Given the description of an element on the screen output the (x, y) to click on. 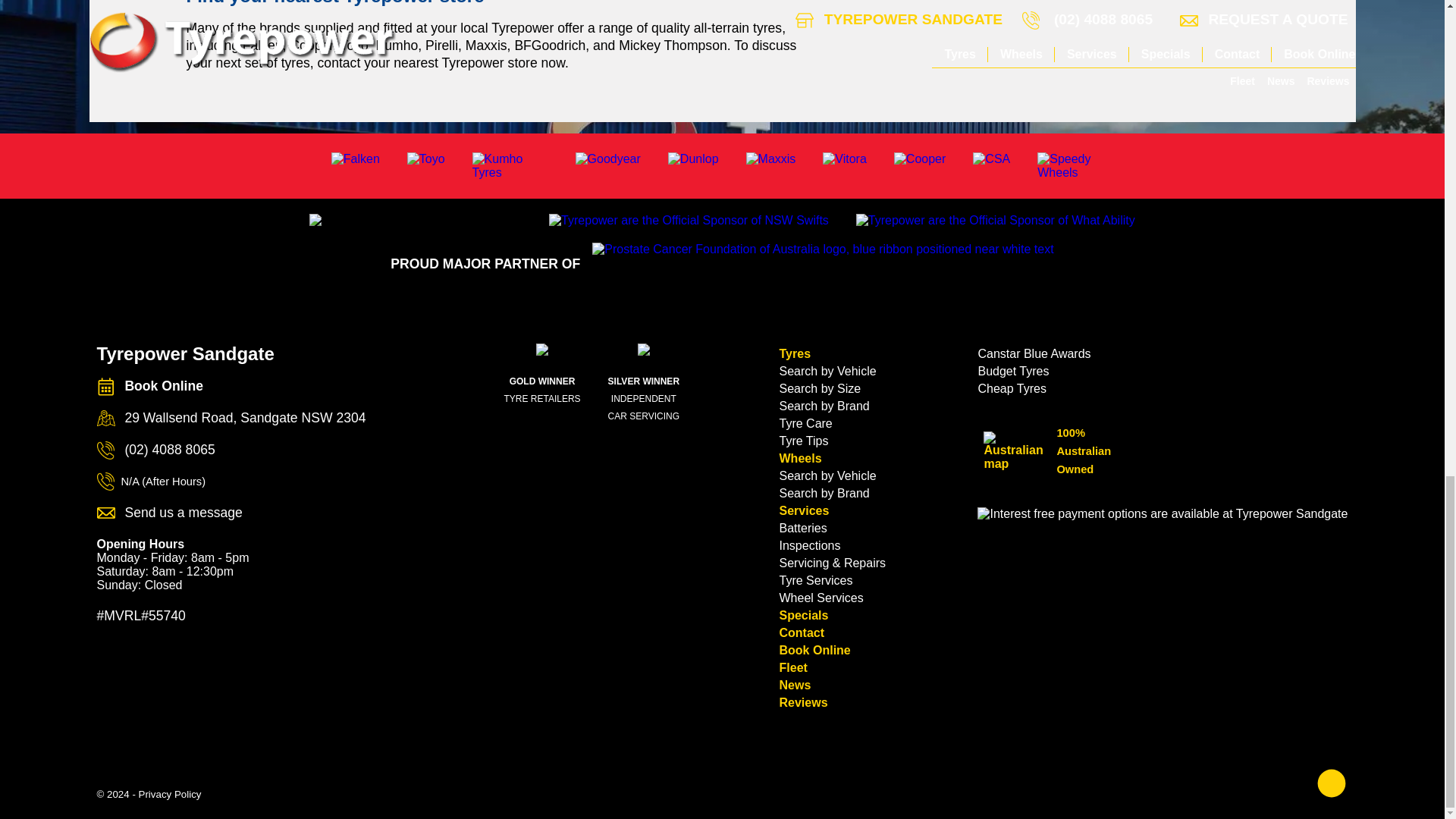
Link to Facebook social media. (1332, 784)
